Given the description of an element on the screen output the (x, y) to click on. 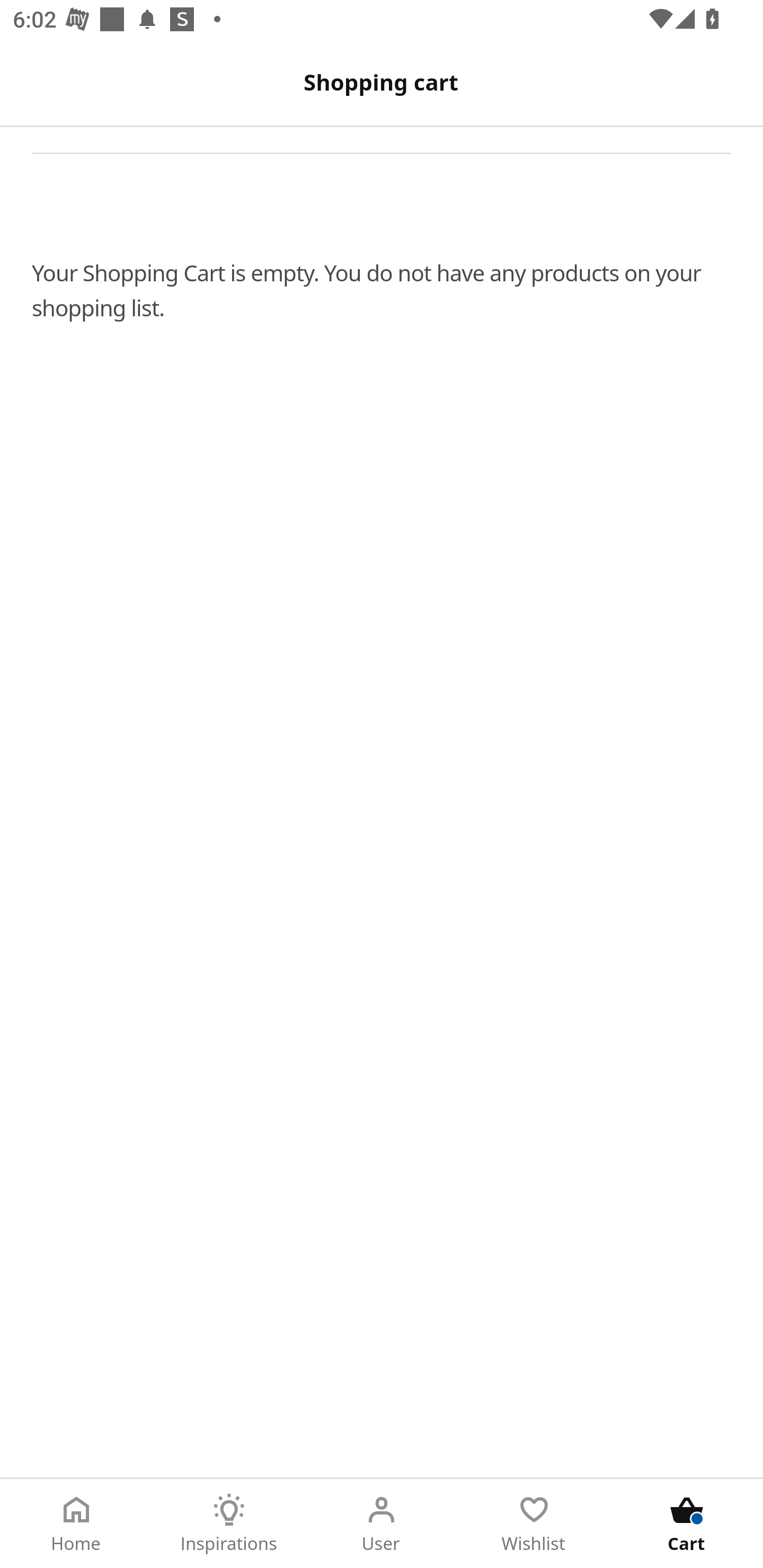
Home
Tab 1 of 5 (76, 1522)
Inspirations
Tab 2 of 5 (228, 1522)
User
Tab 3 of 5 (381, 1522)
Wishlist
Tab 4 of 5 (533, 1522)
Cart
Tab 5 of 5 (686, 1522)
